Given the description of an element on the screen output the (x, y) to click on. 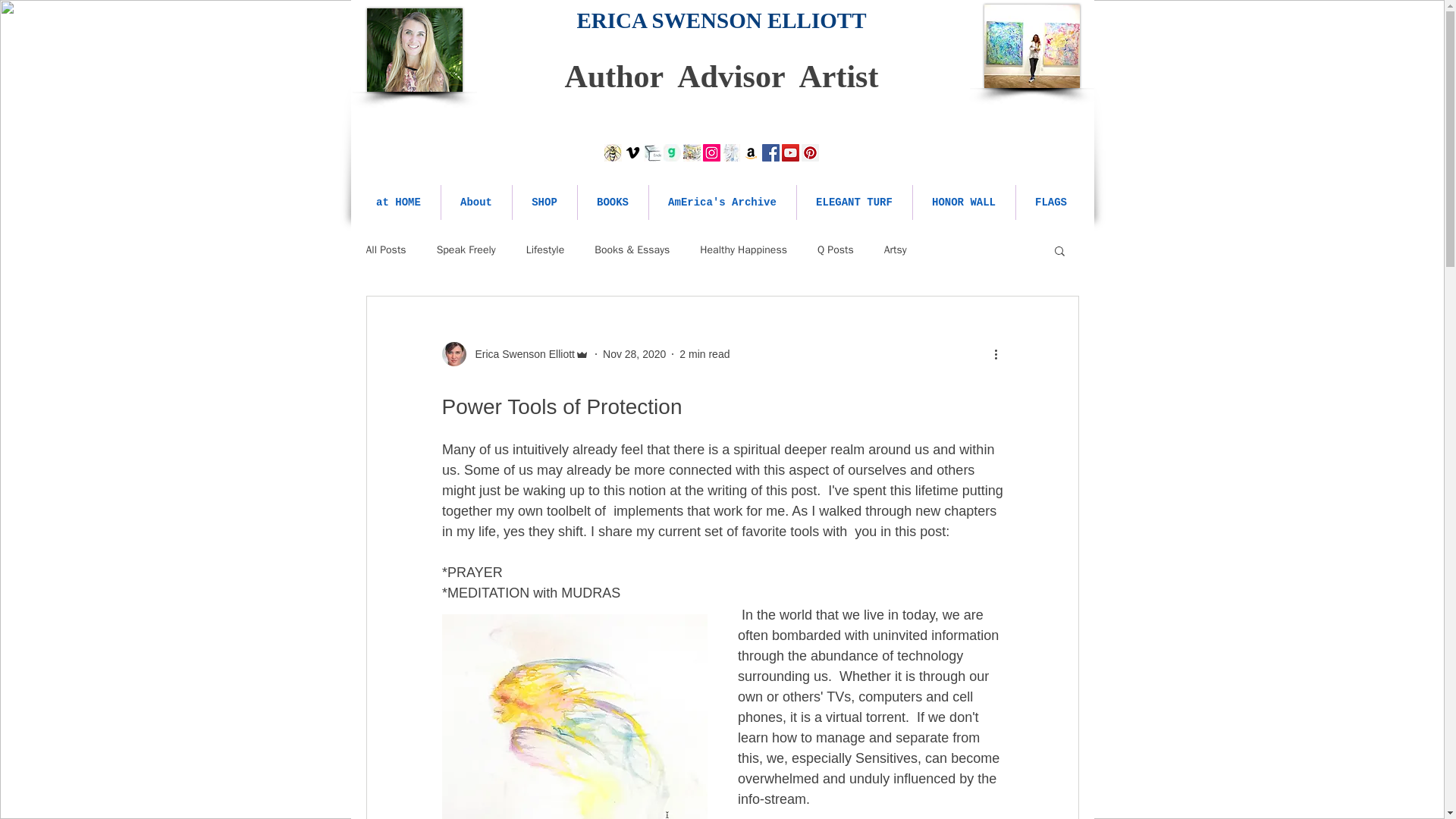
Nov 28, 2020 (633, 353)
About (476, 202)
AmErica's Archive (722, 202)
ELEGANT TURF (853, 202)
BOOKS (612, 202)
HONOR WALL (963, 202)
Artsy (895, 250)
2 min read (704, 353)
Lifestyle (544, 250)
Erica Swenson Elliott (515, 354)
Q Posts (834, 250)
at HOME (397, 202)
SHOP (544, 202)
FLAGS (1051, 202)
Healthy Happiness (743, 250)
